Given the description of an element on the screen output the (x, y) to click on. 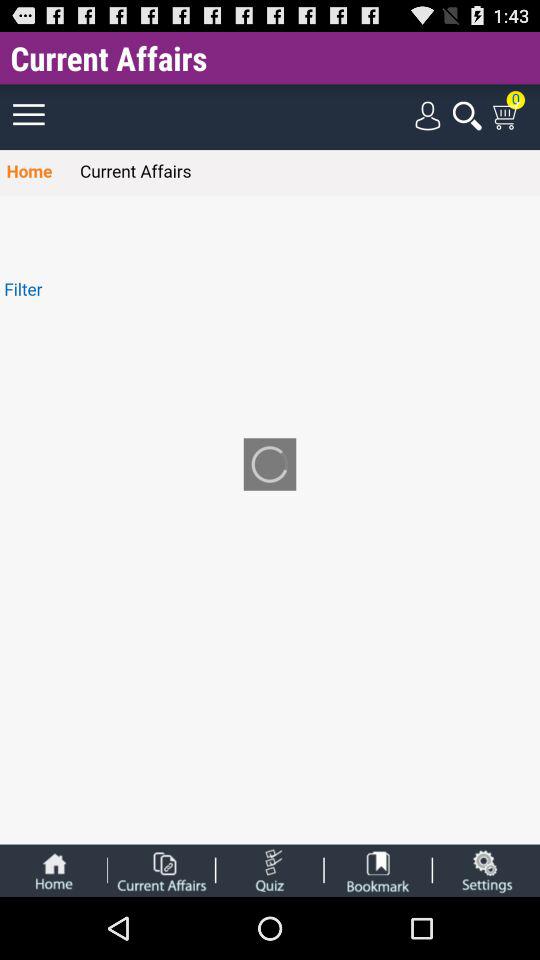
press the app below current affairs (270, 463)
